Given the description of an element on the screen output the (x, y) to click on. 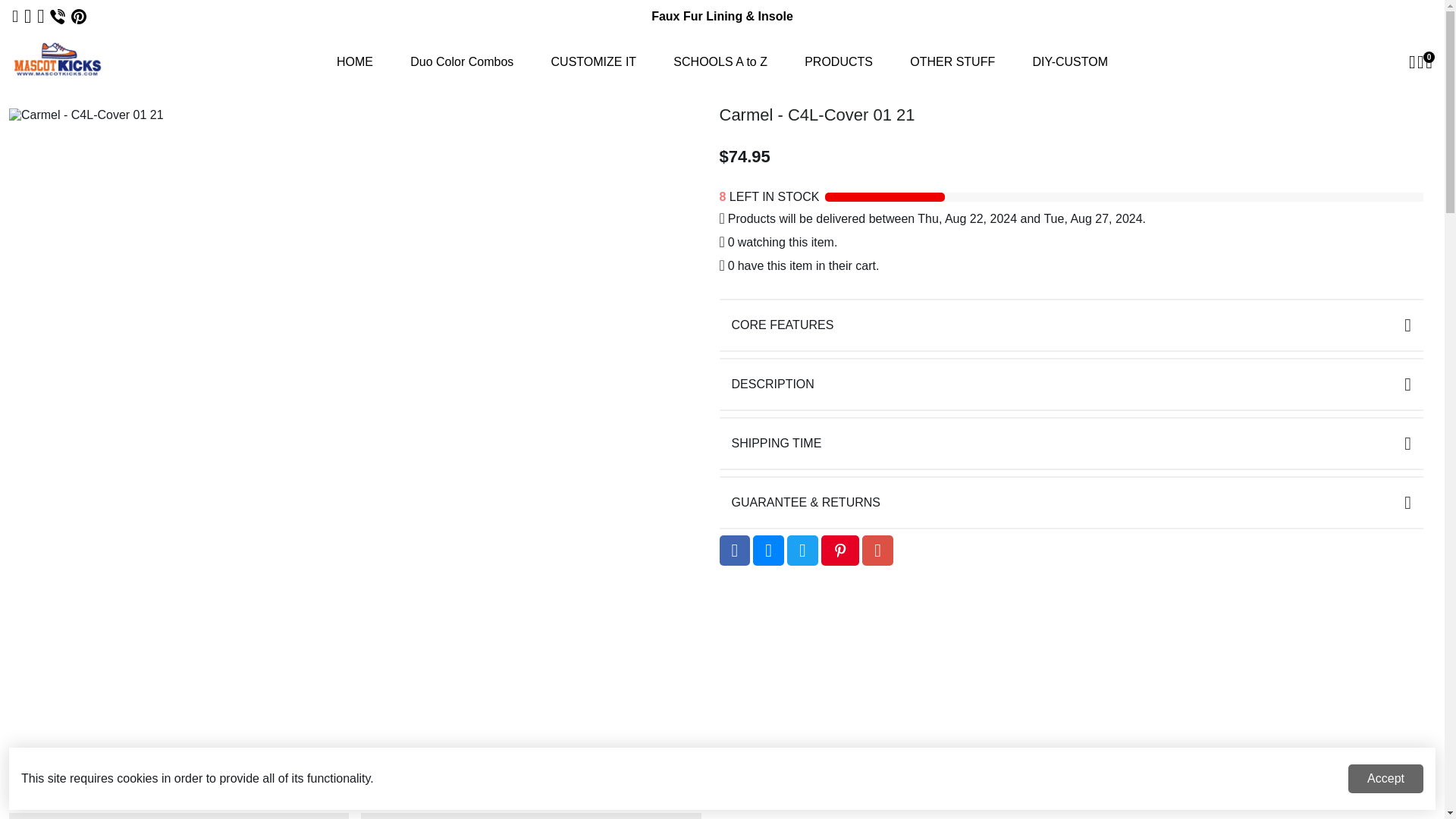
HOME (354, 61)
SCHOOLS A to Z (720, 61)
OTHER STUFF (952, 61)
Duo Color Combos (461, 61)
CUSTOMIZE IT (593, 61)
PRODUCTS (838, 61)
